Given the description of an element on the screen output the (x, y) to click on. 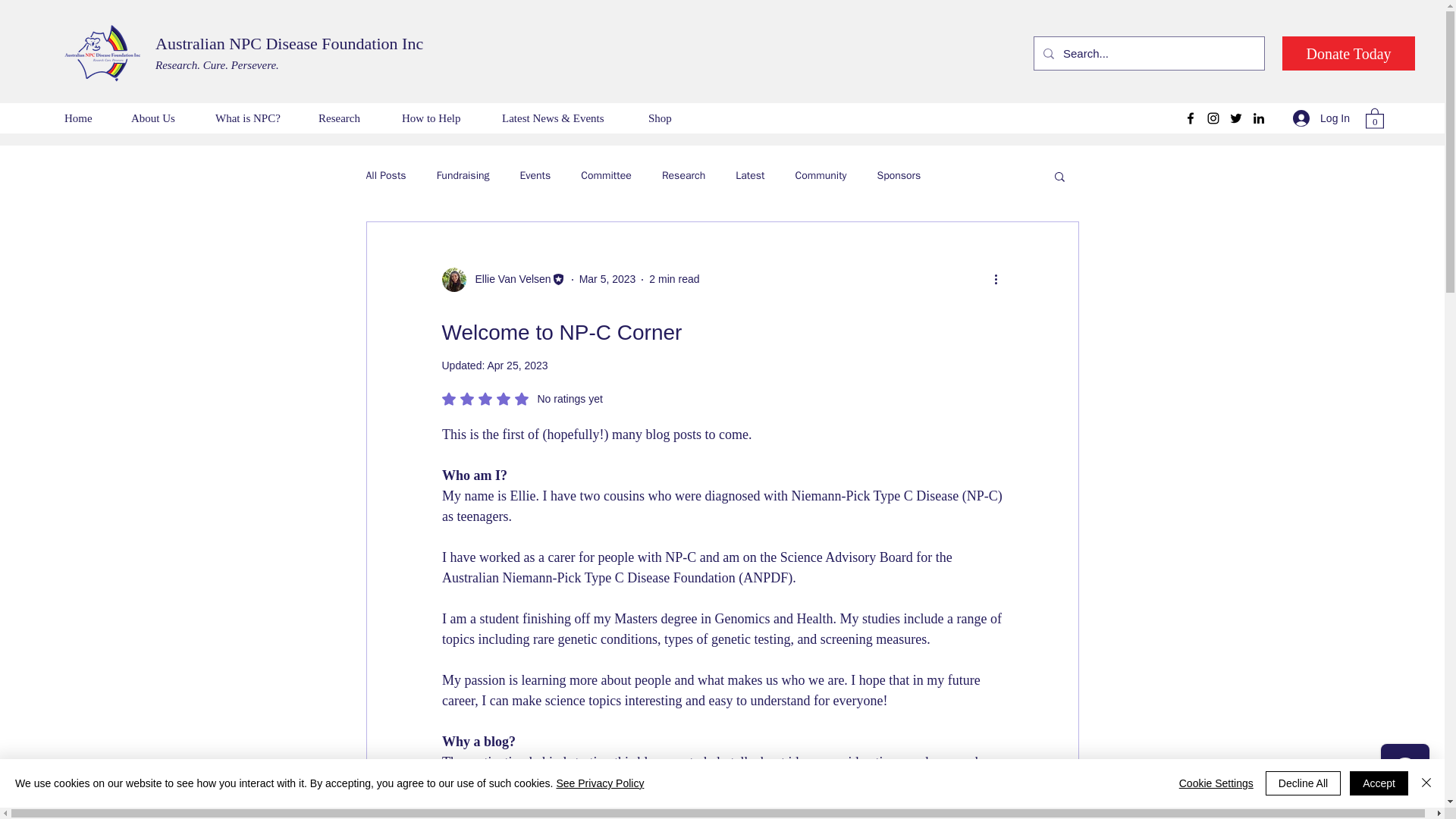
Australian NPC Disease Foundation Inc (289, 43)
0 (1374, 117)
Apr 25, 2023 (516, 365)
What is NPC? (254, 118)
0 (1374, 117)
Shop (667, 118)
Ellie Van Velsen (507, 279)
Mar 5, 2023 (607, 278)
Fundraising (462, 175)
Donate Today (1348, 53)
All Posts (385, 175)
How to Help (439, 118)
Wix Chat (1408, 771)
Home (85, 118)
Log In (1320, 118)
